Given the description of an element on the screen output the (x, y) to click on. 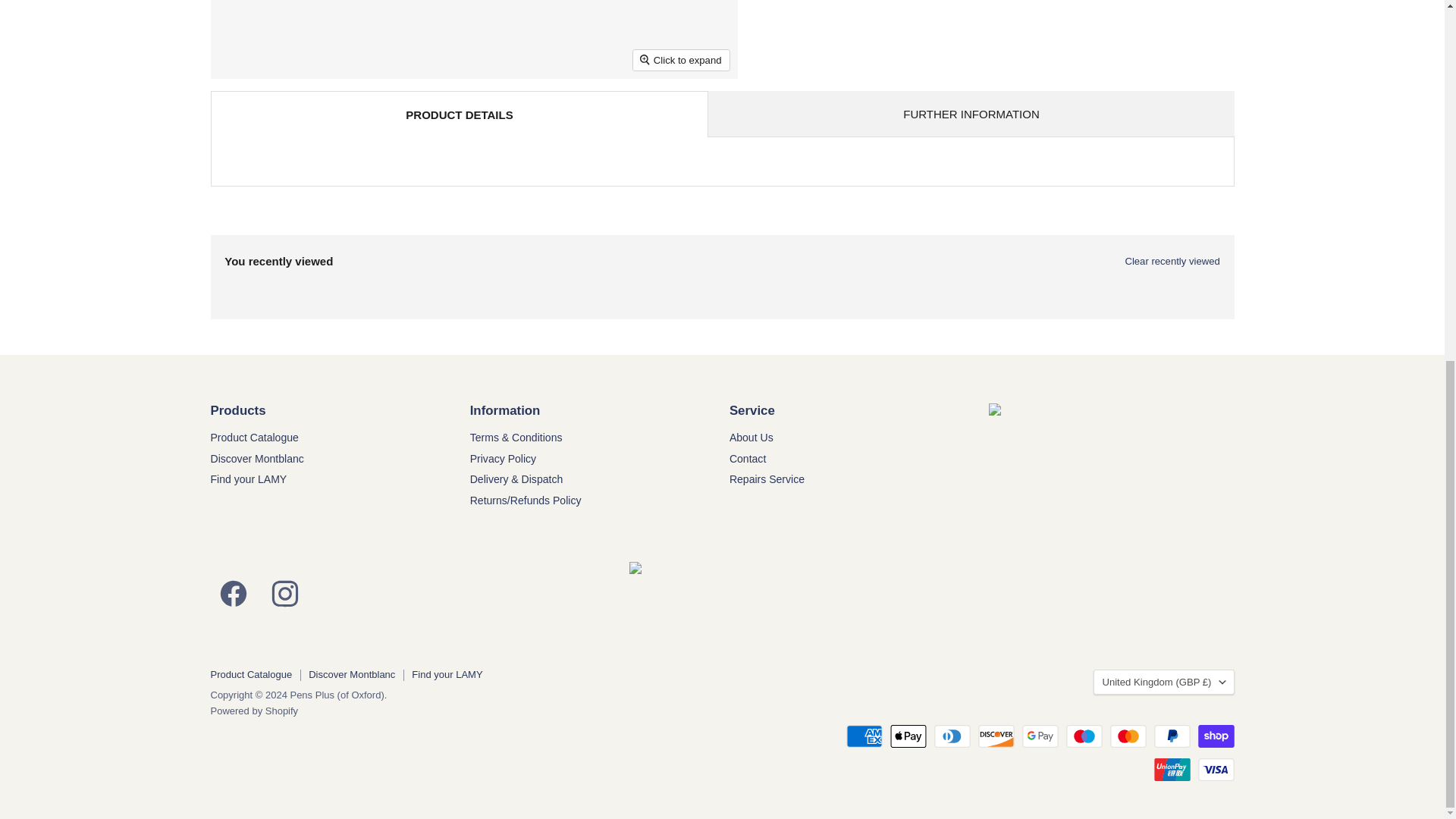
Apple Pay (907, 735)
American Express (863, 735)
Facebook (233, 590)
Instagram (284, 590)
Discover (996, 735)
Mastercard (1128, 735)
Maestro (1083, 735)
Google Pay (1040, 735)
Diners Club (952, 735)
